Given the description of an element on the screen output the (x, y) to click on. 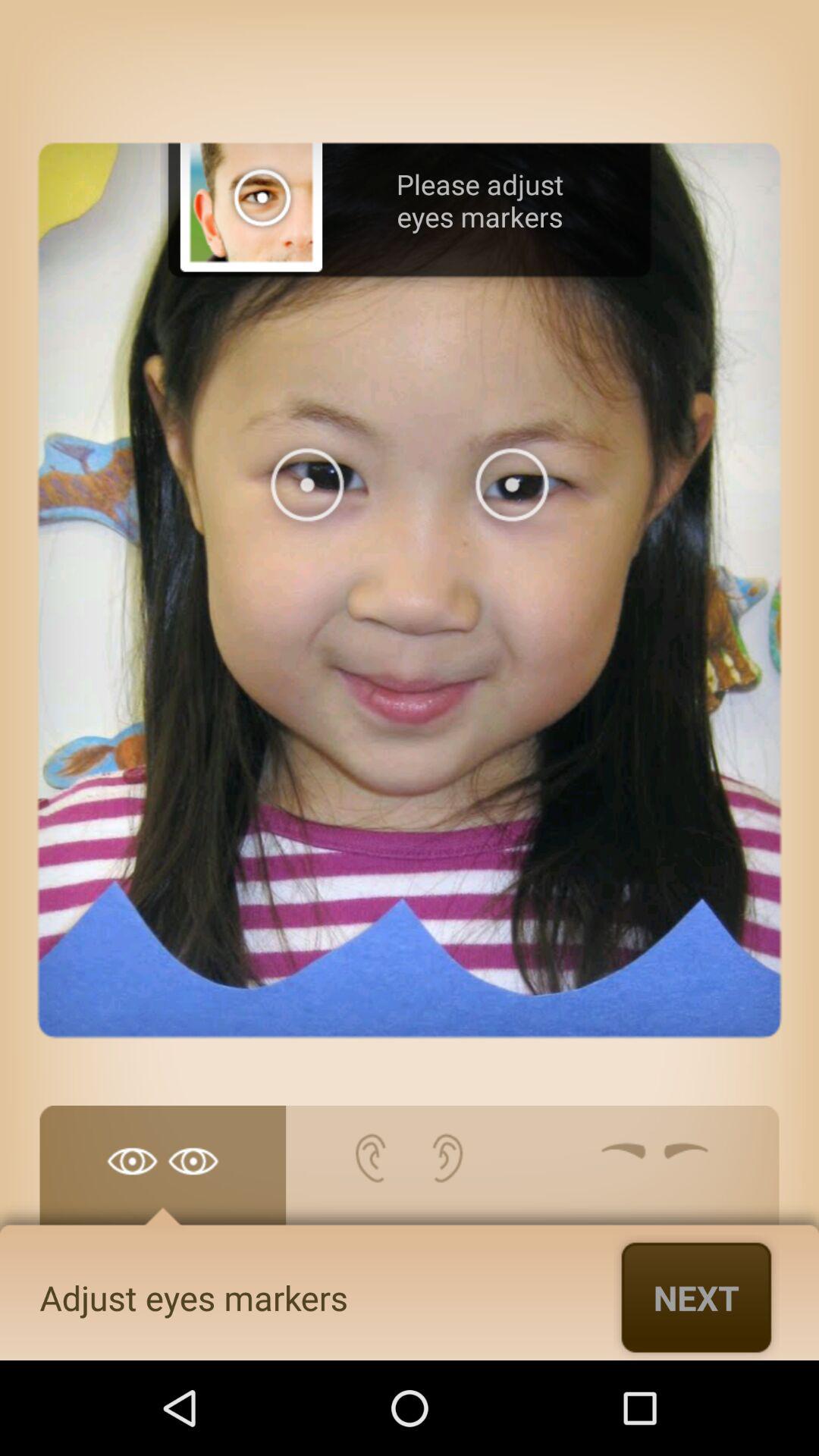
adjust eyes markers (162, 1173)
